Given the description of an element on the screen output the (x, y) to click on. 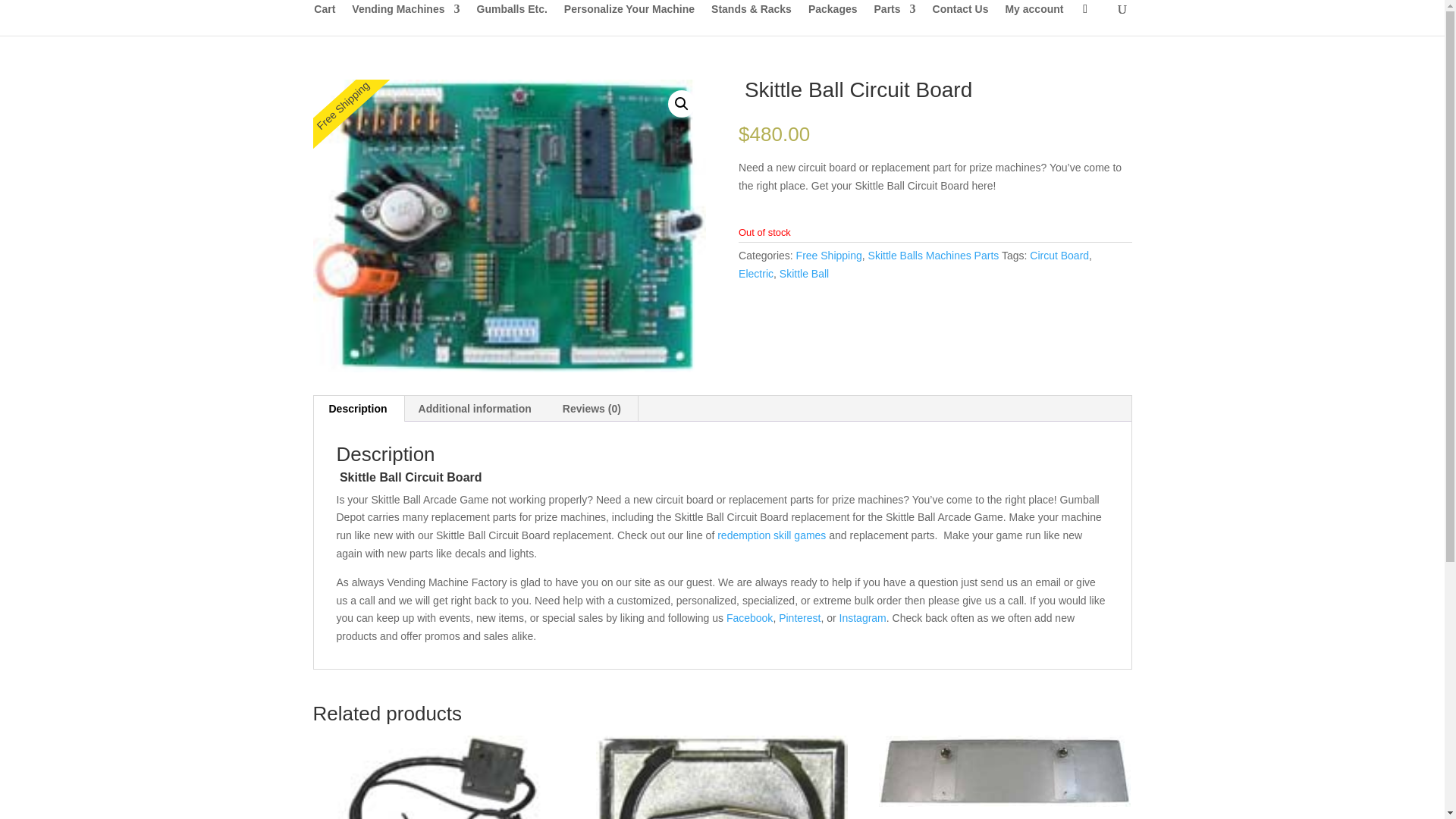
Parts (895, 20)
Personalize Your Machine (629, 20)
Skittle Ball Circuit Board (508, 225)
My account (1033, 20)
Contact Us (960, 20)
Packages (832, 20)
Gumballs Etc. (511, 20)
Vending Machines (406, 20)
Cart (324, 20)
